Given the description of an element on the screen output the (x, y) to click on. 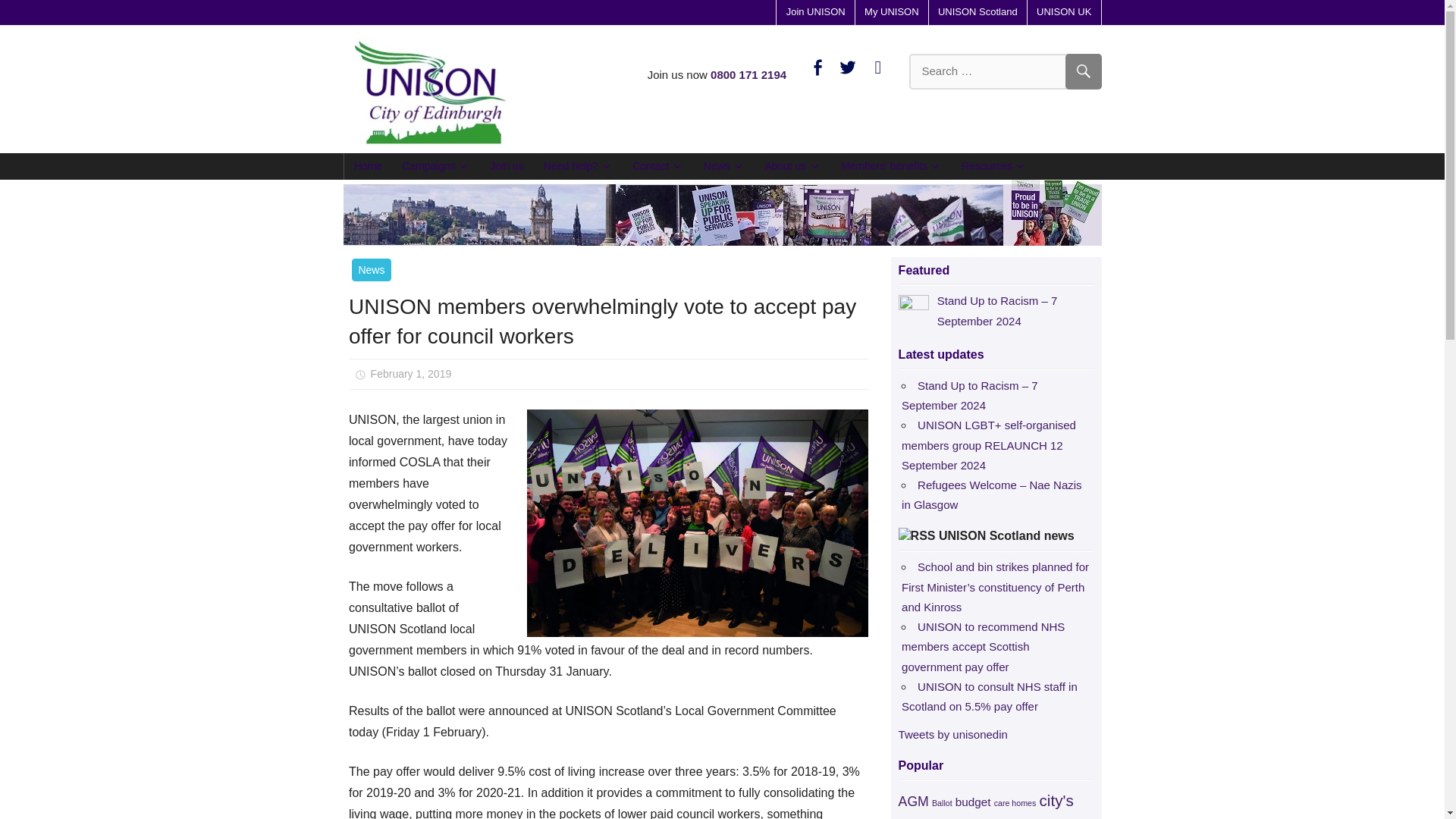
Twitter (848, 65)
Facebook (817, 65)
youtube (877, 65)
View all posts by unison.edinburgh (526, 373)
twitter (848, 65)
UNISON UK (1063, 12)
Contact (658, 166)
3:43 pm (411, 373)
My UNISON (891, 12)
Join us (507, 166)
